Given the description of an element on the screen output the (x, y) to click on. 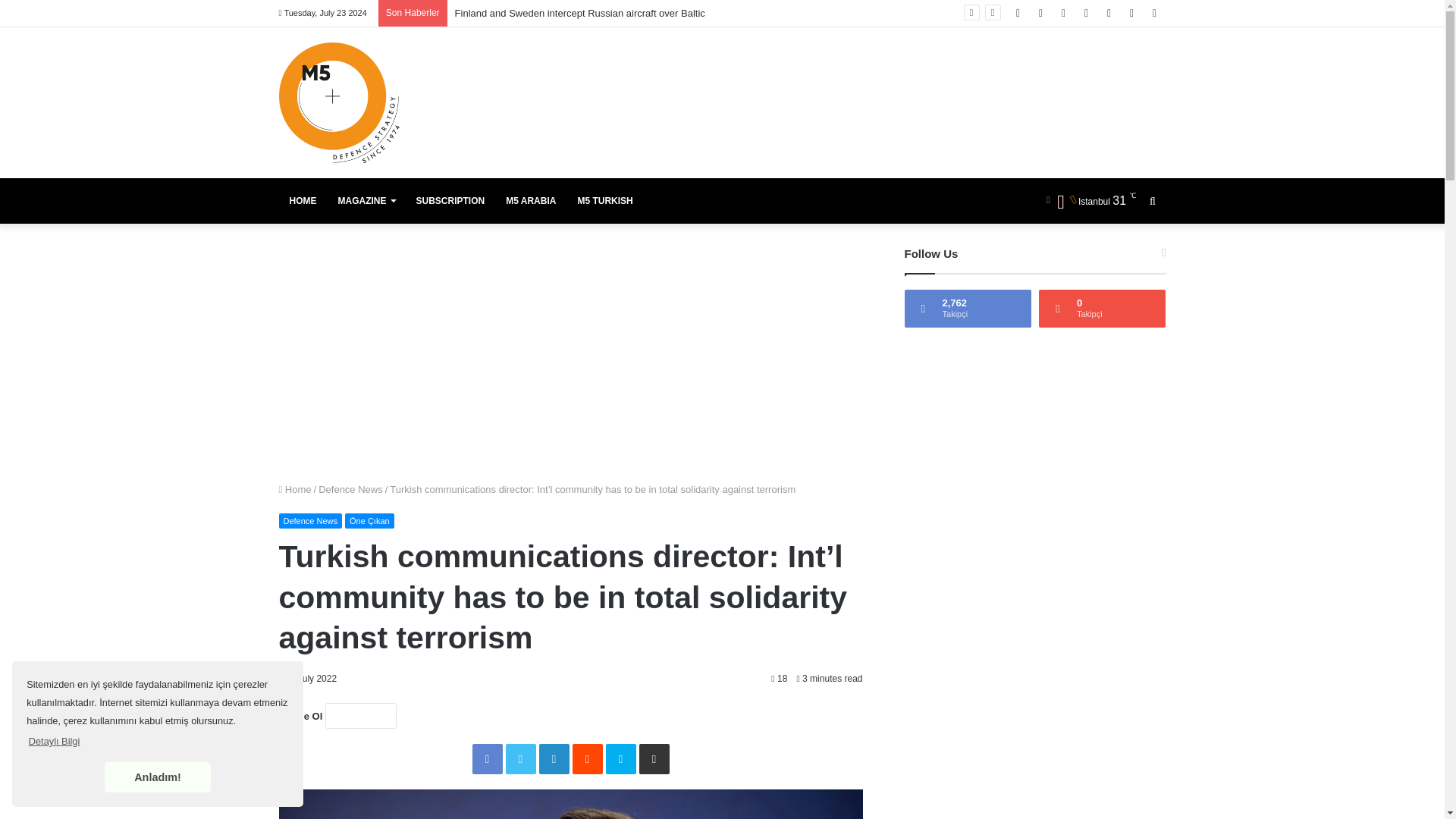
Twitter (520, 758)
M5 ARABIA (530, 200)
M5 Dergi (338, 102)
SUBSCRIPTION (449, 200)
Random Article (1131, 13)
Defence News (310, 520)
Log In (1109, 13)
Sidebar (1154, 13)
Advertisement (1035, 680)
M5 TURKISH (604, 200)
Share via Email (653, 758)
MAGAZINE (366, 200)
Search for (1152, 200)
Home (295, 489)
Scattered Clouds (1089, 199)
